Given the description of an element on the screen output the (x, y) to click on. 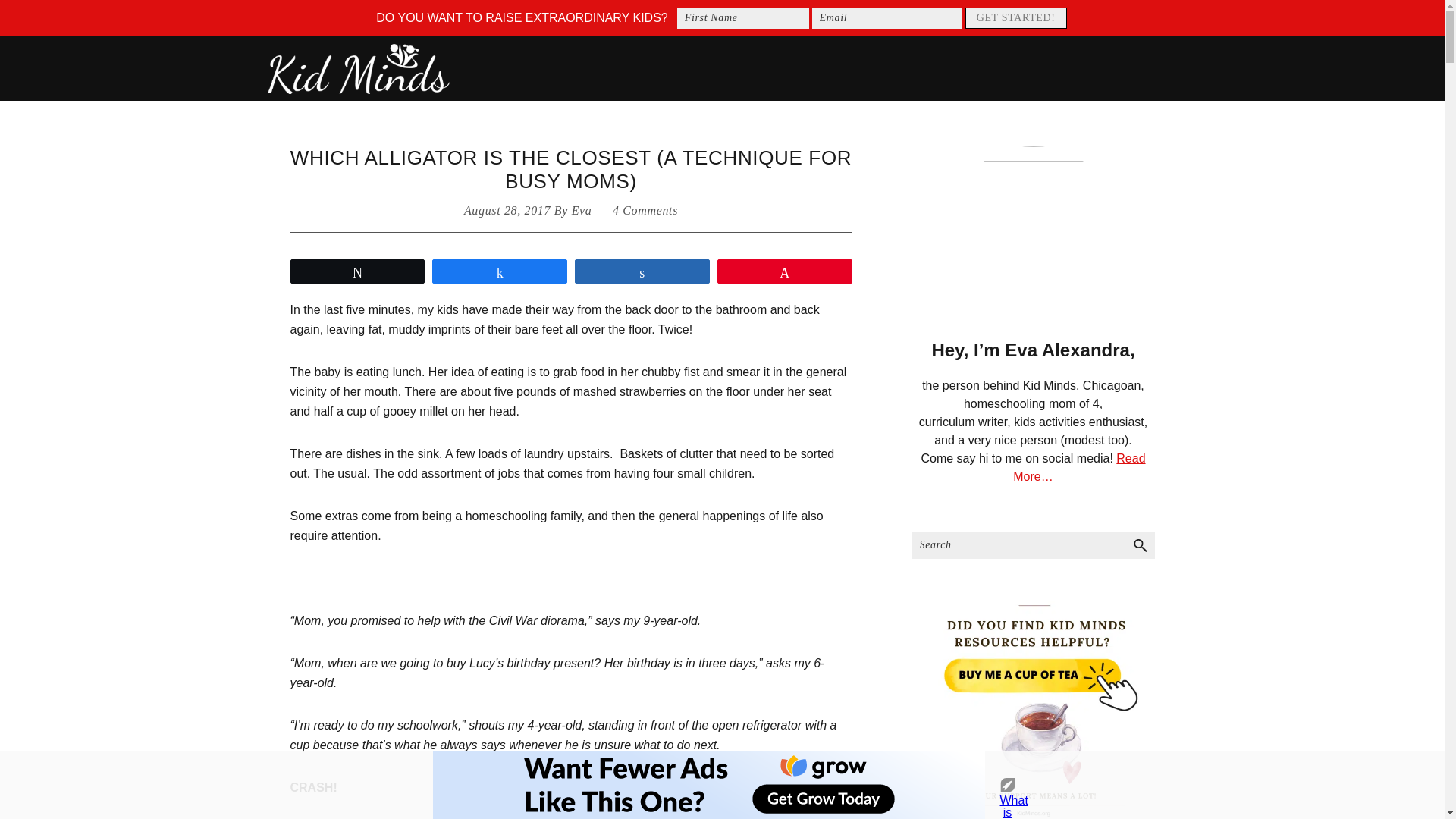
4 Comments (645, 210)
Get Started! (1016, 17)
Get Started! (1016, 17)
Eva (582, 210)
